Given the description of an element on the screen output the (x, y) to click on. 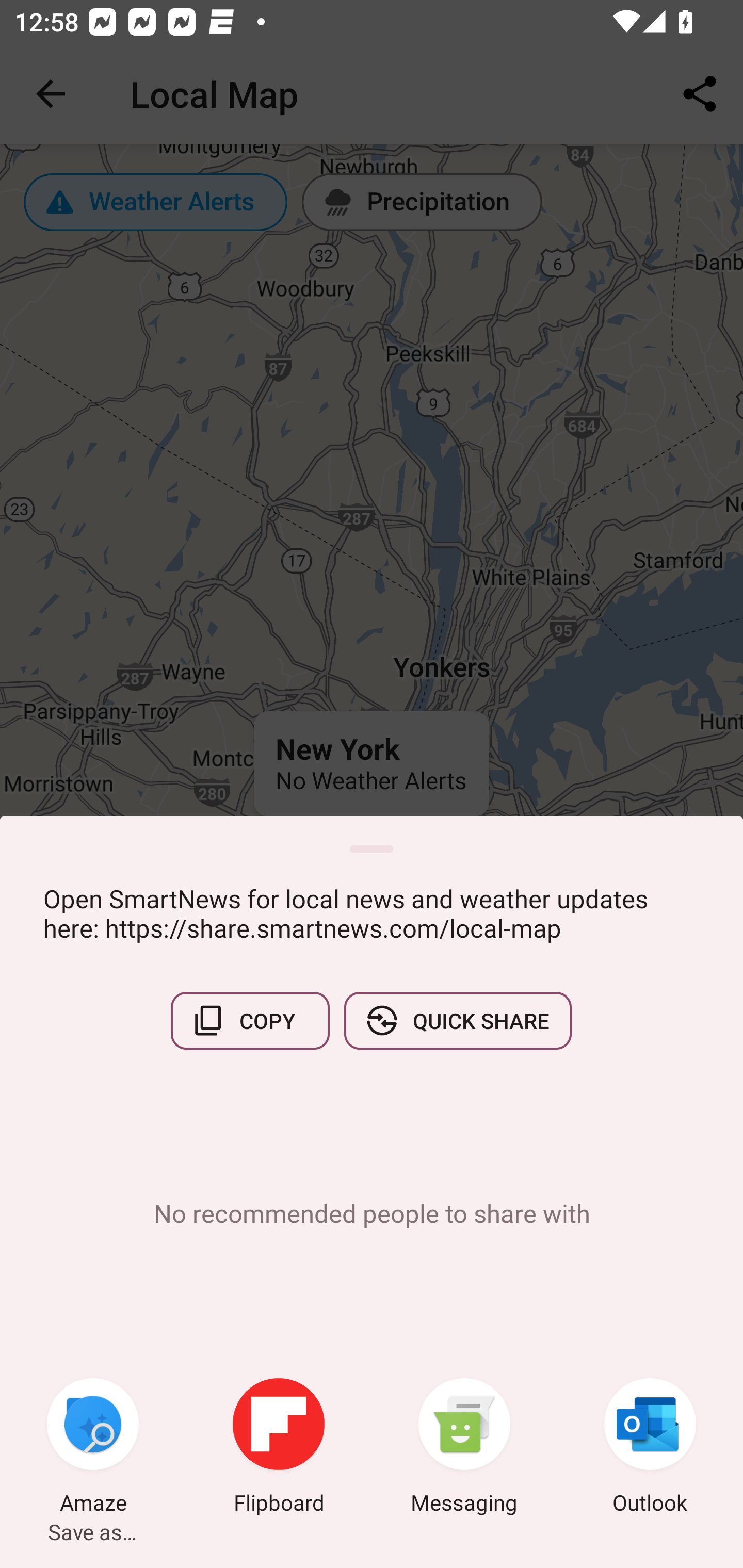
COPY (249, 1020)
QUICK SHARE (457, 1020)
Amaze Save as… (92, 1448)
Flipboard (278, 1448)
Messaging (464, 1448)
Outlook (650, 1448)
